Given the description of an element on the screen output the (x, y) to click on. 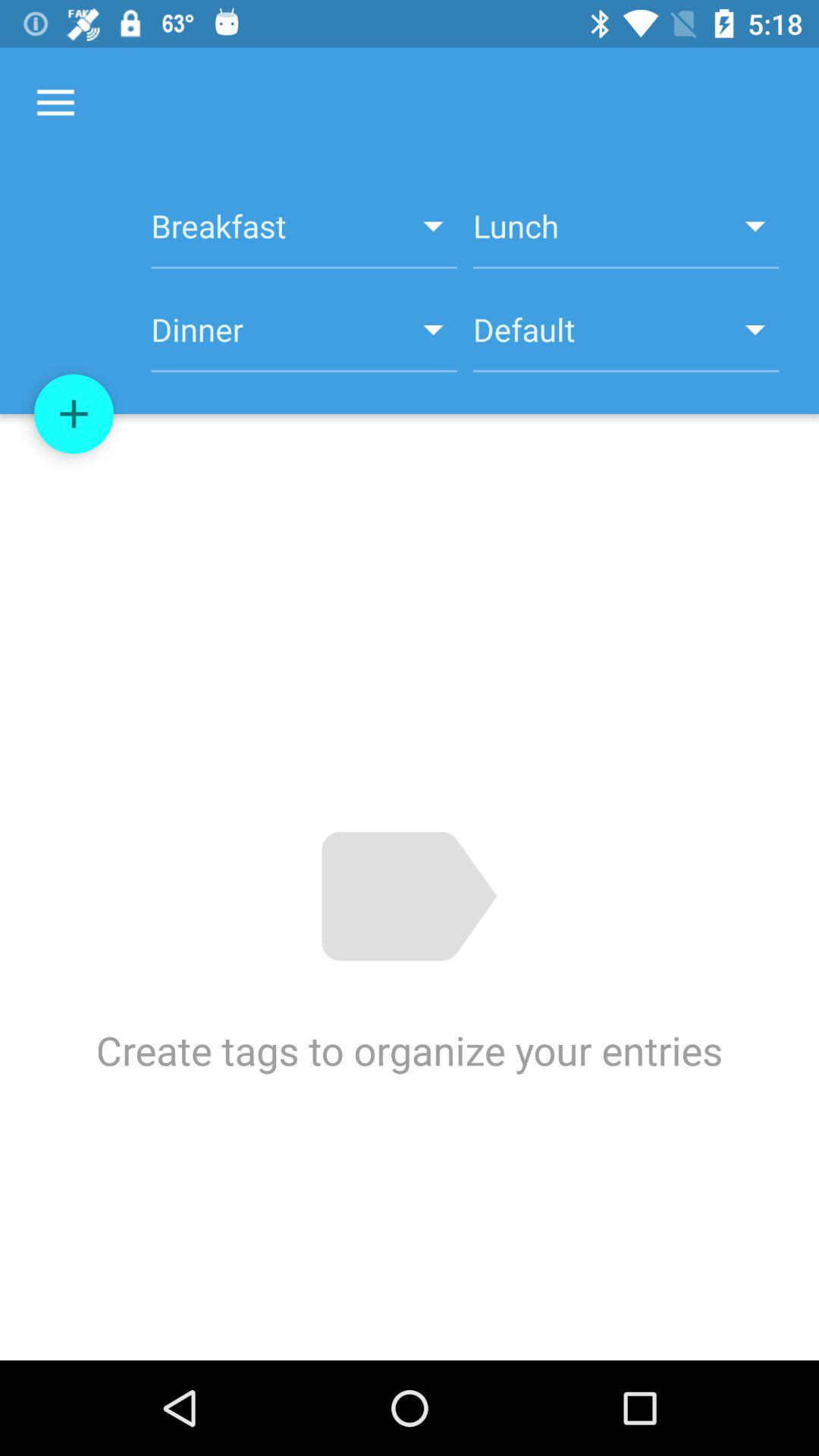
open lunch item (626, 234)
